Given the description of an element on the screen output the (x, y) to click on. 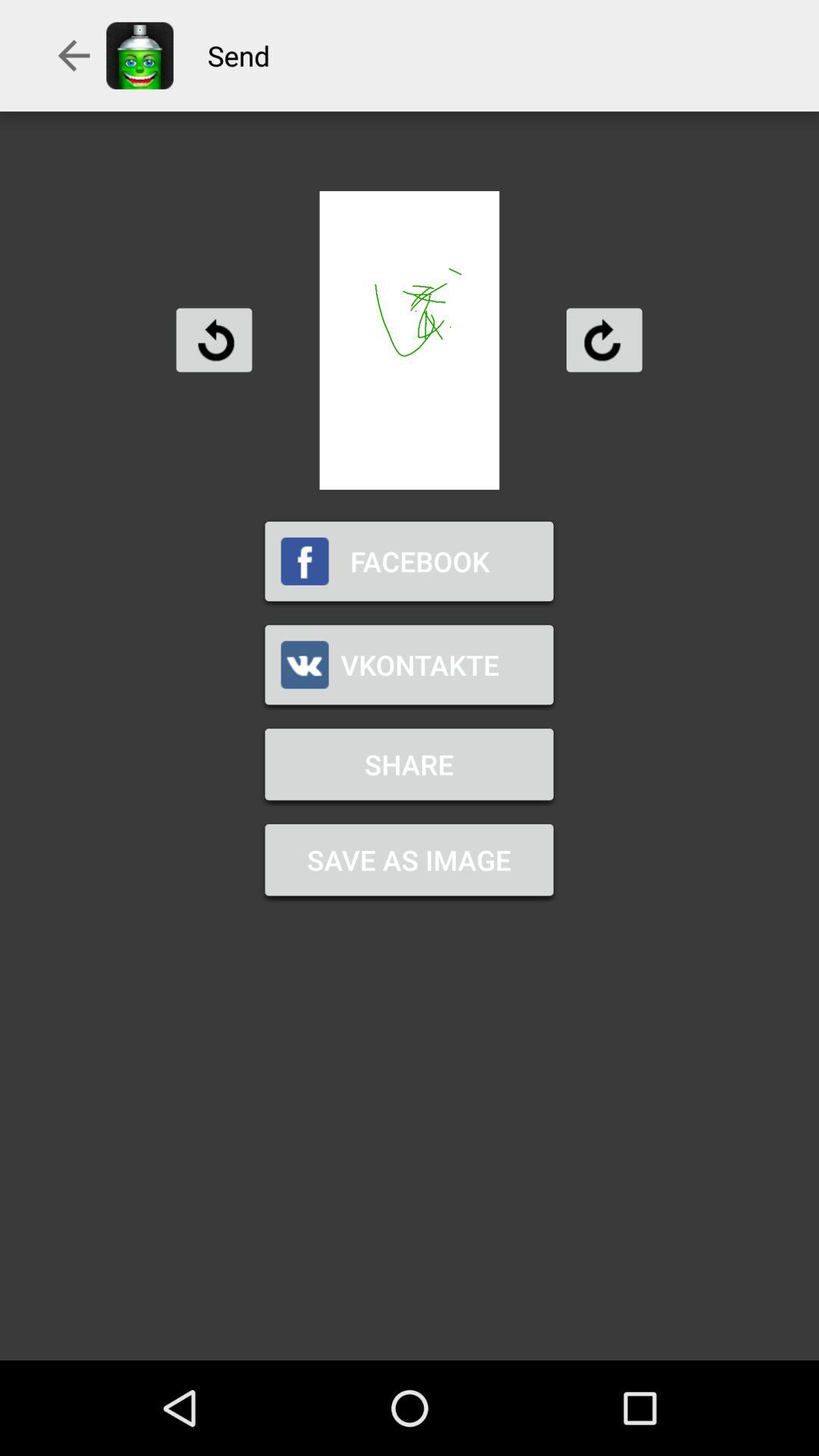
return to previous page (213, 339)
